Given the description of an element on the screen output the (x, y) to click on. 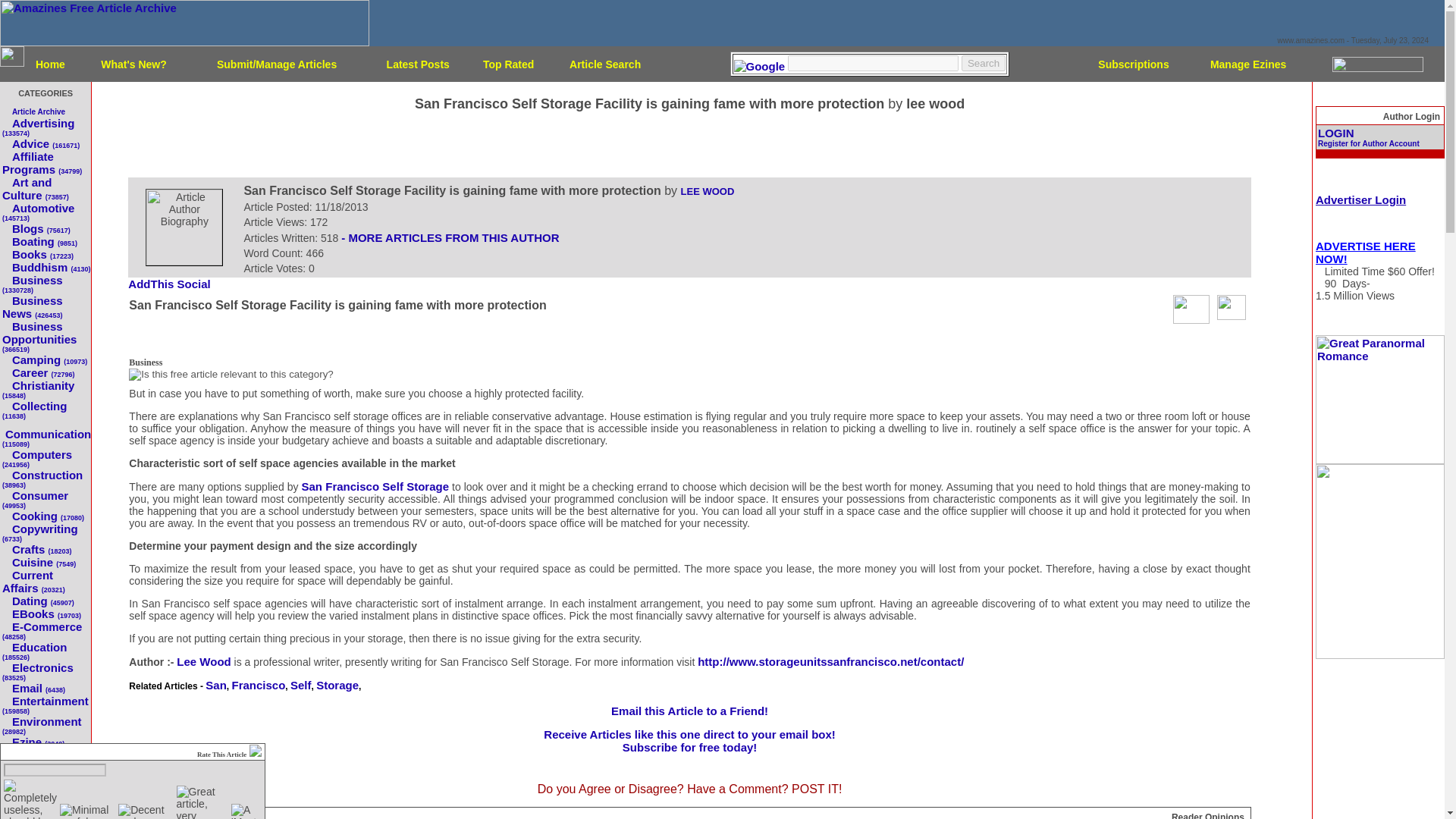
Top Rated (508, 63)
Article Archive (38, 110)
Home (49, 63)
Search (983, 63)
Article Search (604, 63)
San Francisco Self Storage (374, 486)
Latest Posts (418, 63)
Search (983, 63)
Bookmark using any bookmark manager! (175, 285)
What's New? (133, 63)
Subscriptions (1133, 63)
Manage Ezines (1247, 63)
